Given the description of an element on the screen output the (x, y) to click on. 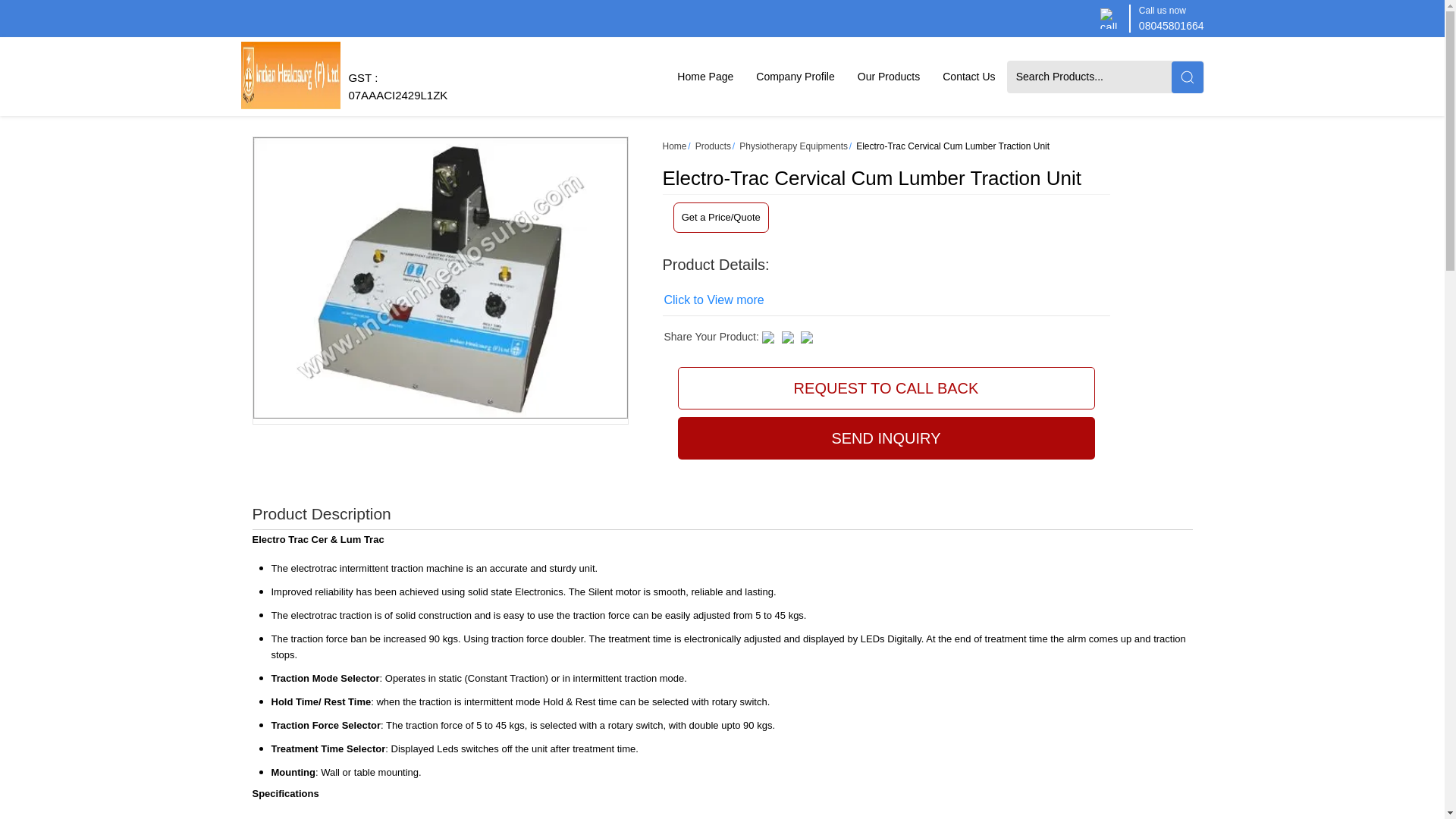
Home (674, 145)
REQUEST TO CALL BACK (886, 387)
submit (1186, 76)
Search Products... (1089, 75)
Contact Us (968, 76)
Company Profile (794, 76)
Physiotherapy Equipments (793, 145)
Search (1186, 76)
GST : 07AAACI2429L1ZK (396, 93)
Click to View more (713, 300)
